Given the description of an element on the screen output the (x, y) to click on. 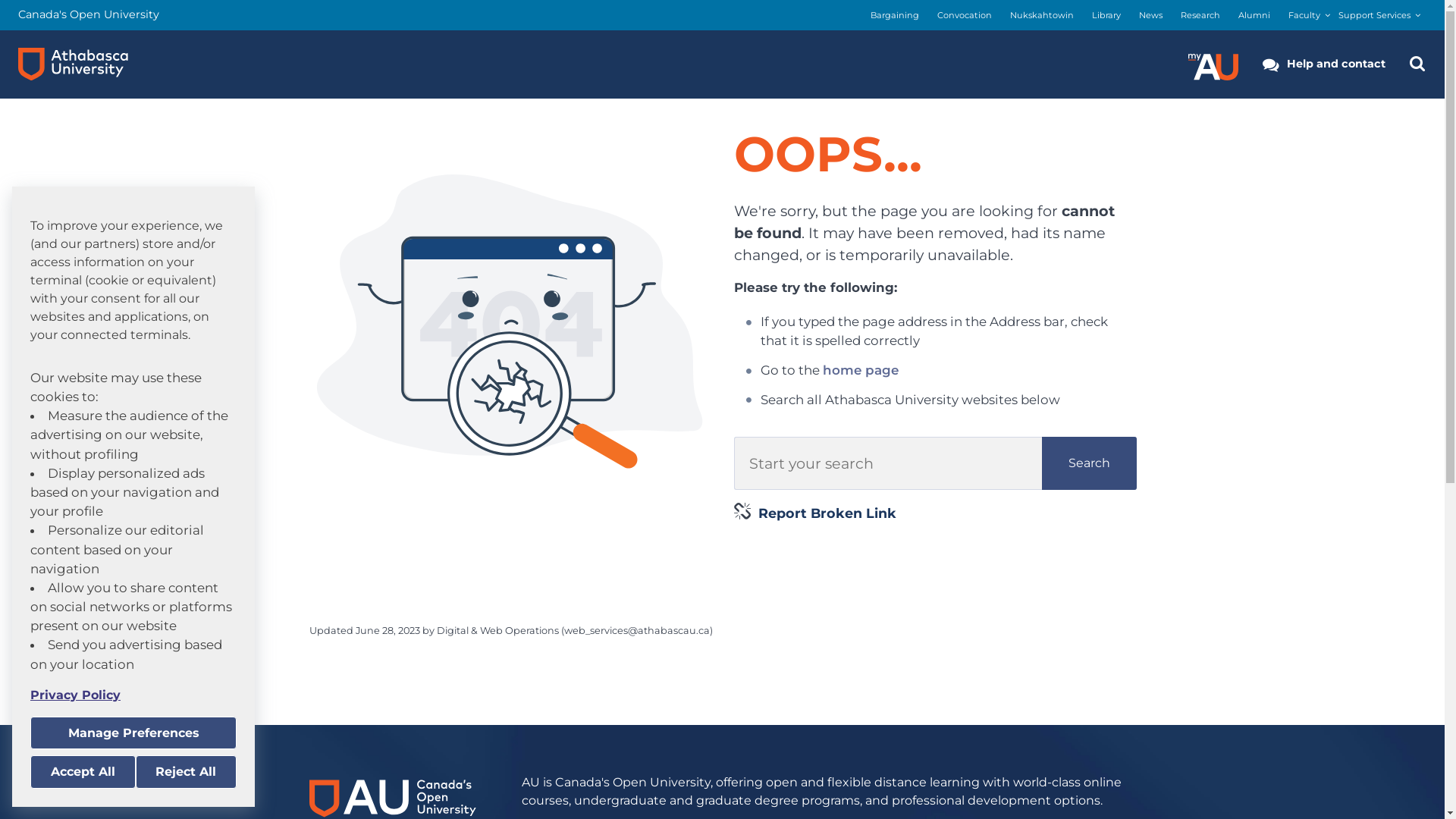
Nukskahtowin Element type: text (1041, 15)
Research Element type: text (1200, 15)
Accept All Element type: text (82, 771)
Library Element type: text (1106, 15)
Reject All Element type: text (185, 771)
Manage Preferences Element type: text (133, 732)
Faculty Element type: text (1304, 15)
Search the Athabasca University Website Element type: hover (1417, 64)
Convocation Element type: text (964, 15)
Alumni Element type: text (1254, 15)
Support Services Element type: text (1374, 15)
Help and contact Element type: text (1323, 64)
News Element type: text (1150, 15)
Privacy Policy Element type: text (133, 695)
Skip to main content Element type: text (0, 0)
Search Element type: text (1088, 462)
Athabasca University logo Element type: text (73, 64)
Bargaining Element type: text (894, 15)
home page Element type: text (860, 369)
